Given the description of an element on the screen output the (x, y) to click on. 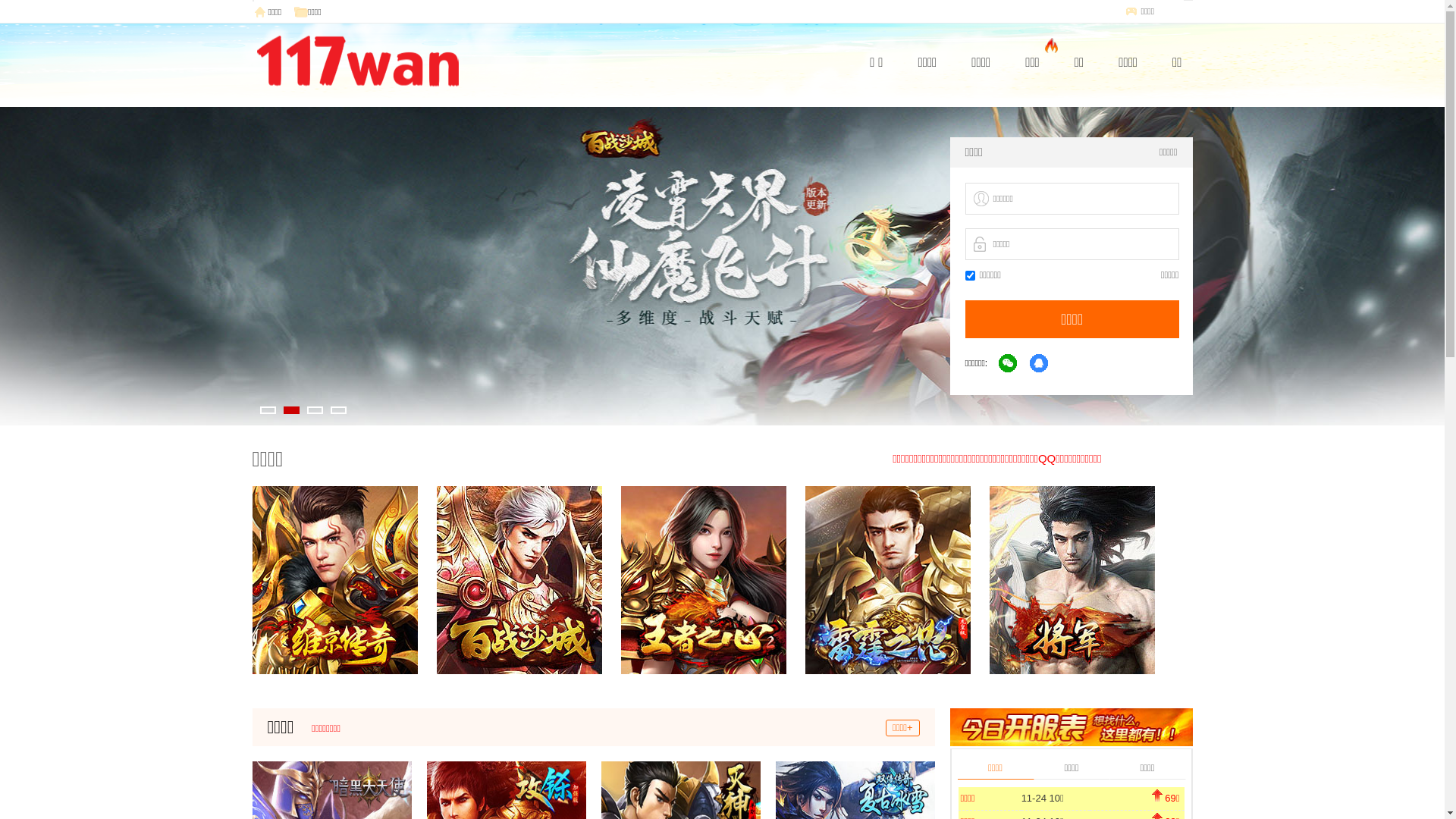
QQ Element type: hover (1039, 363)
